Given the description of an element on the screen output the (x, y) to click on. 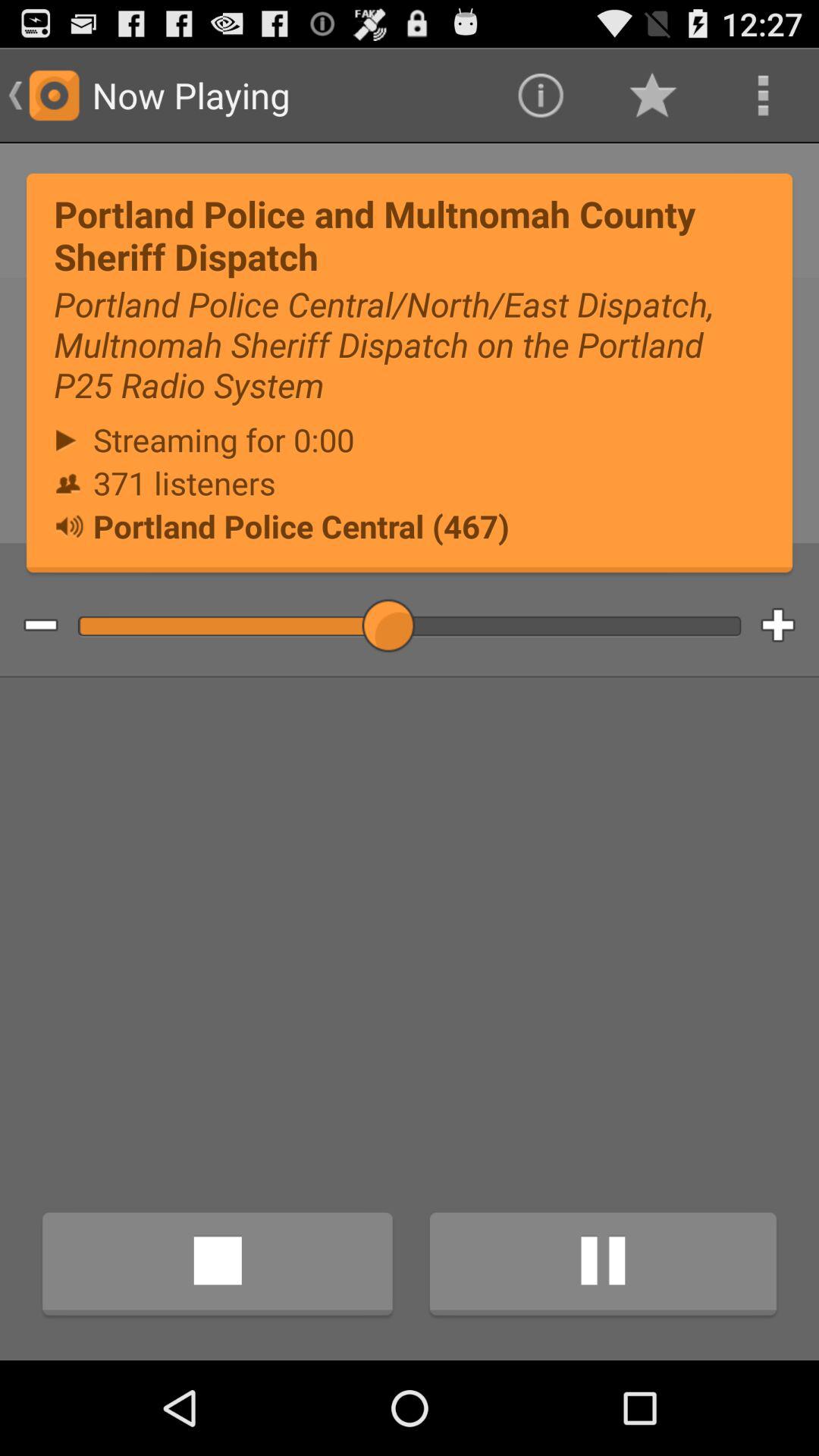
turn off the item above the portland police and app (763, 95)
